Given the description of an element on the screen output the (x, y) to click on. 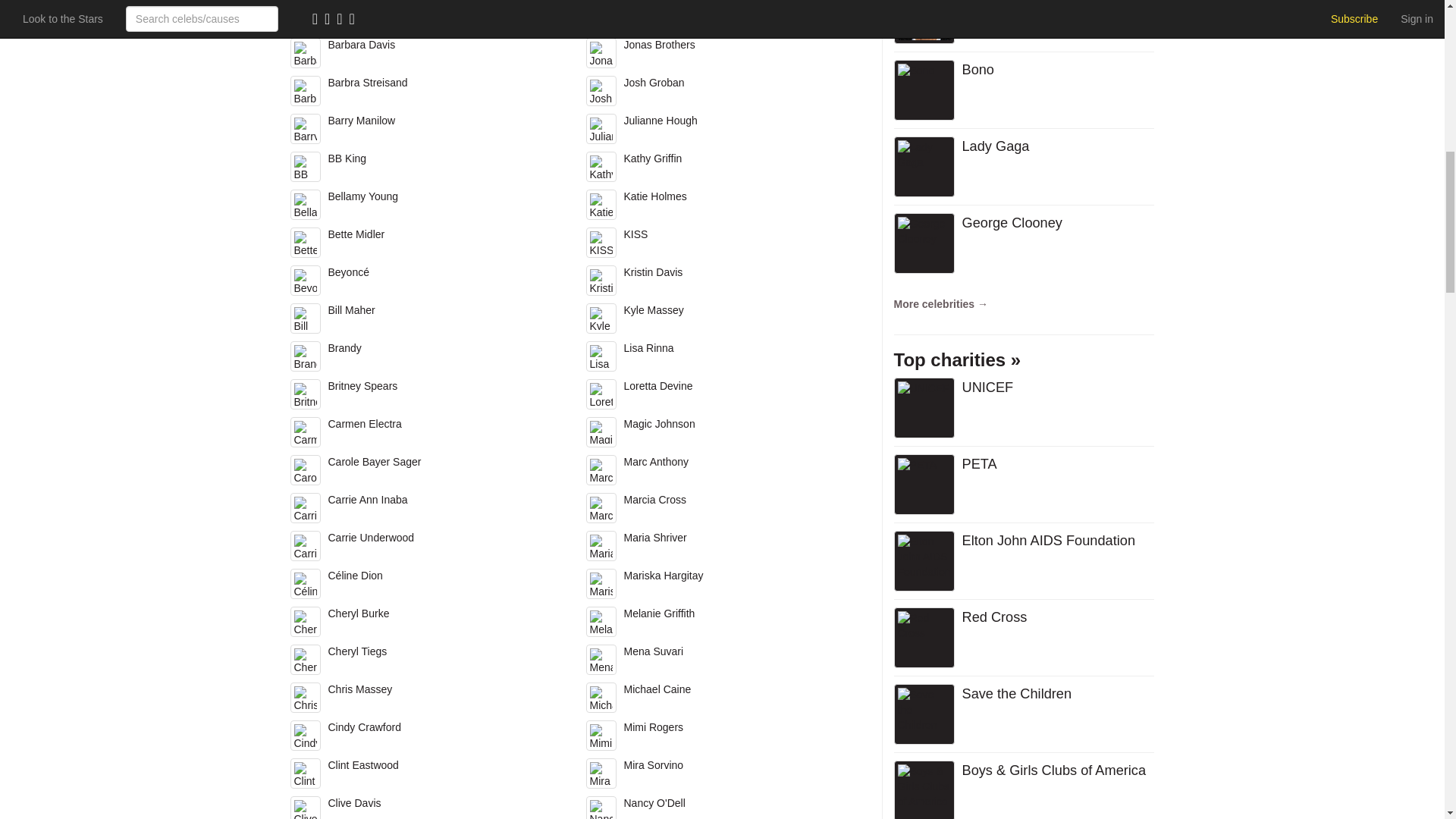
Barbara Davis (425, 56)
Arnold Schwarzenegger (425, 18)
